Given the description of an element on the screen output the (x, y) to click on. 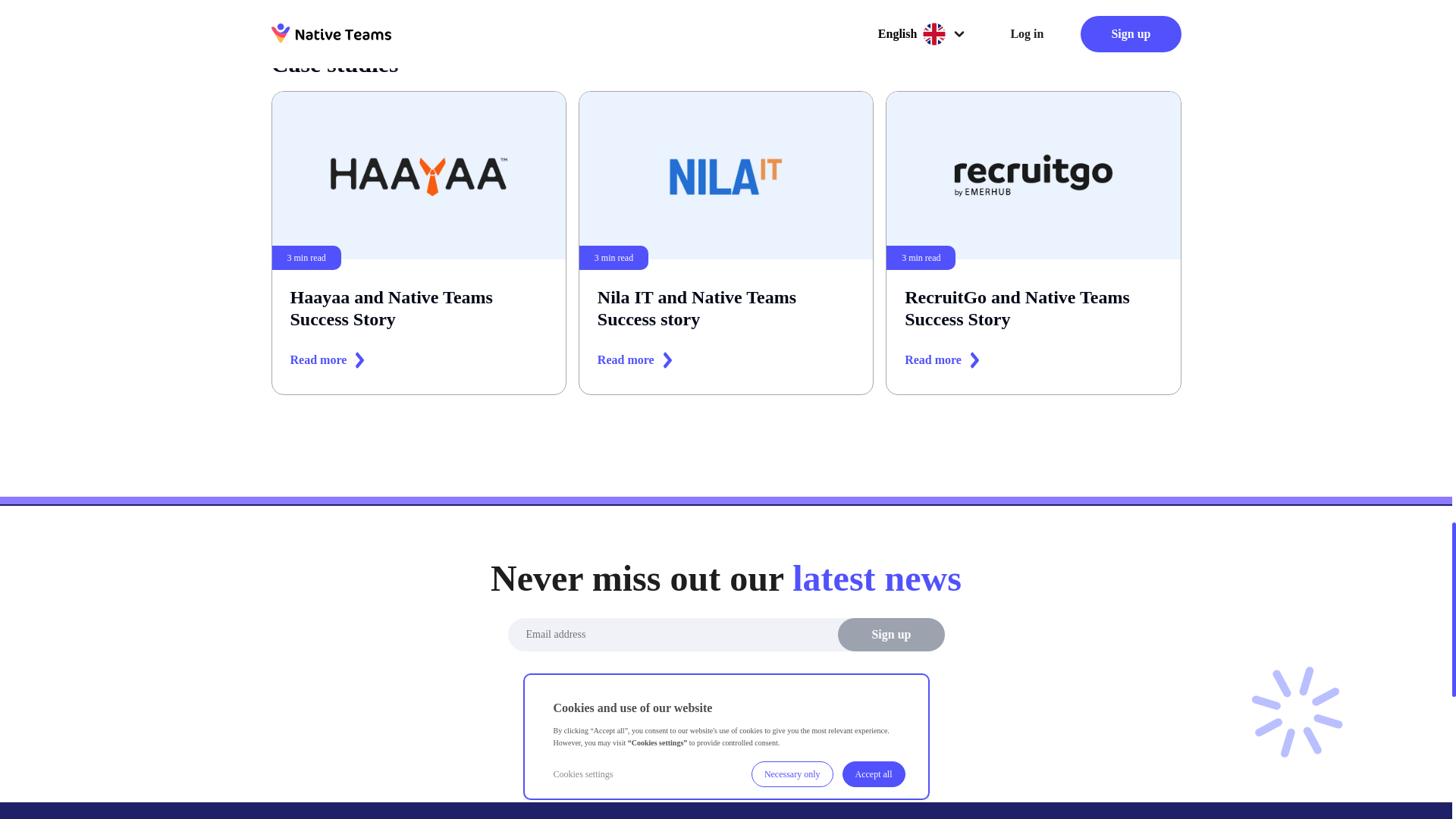
Sign up (890, 634)
Privacy Policy. (725, 242)
Terms of Service (748, 698)
Privacy Policy (417, 242)
